Given the description of an element on the screen output the (x, y) to click on. 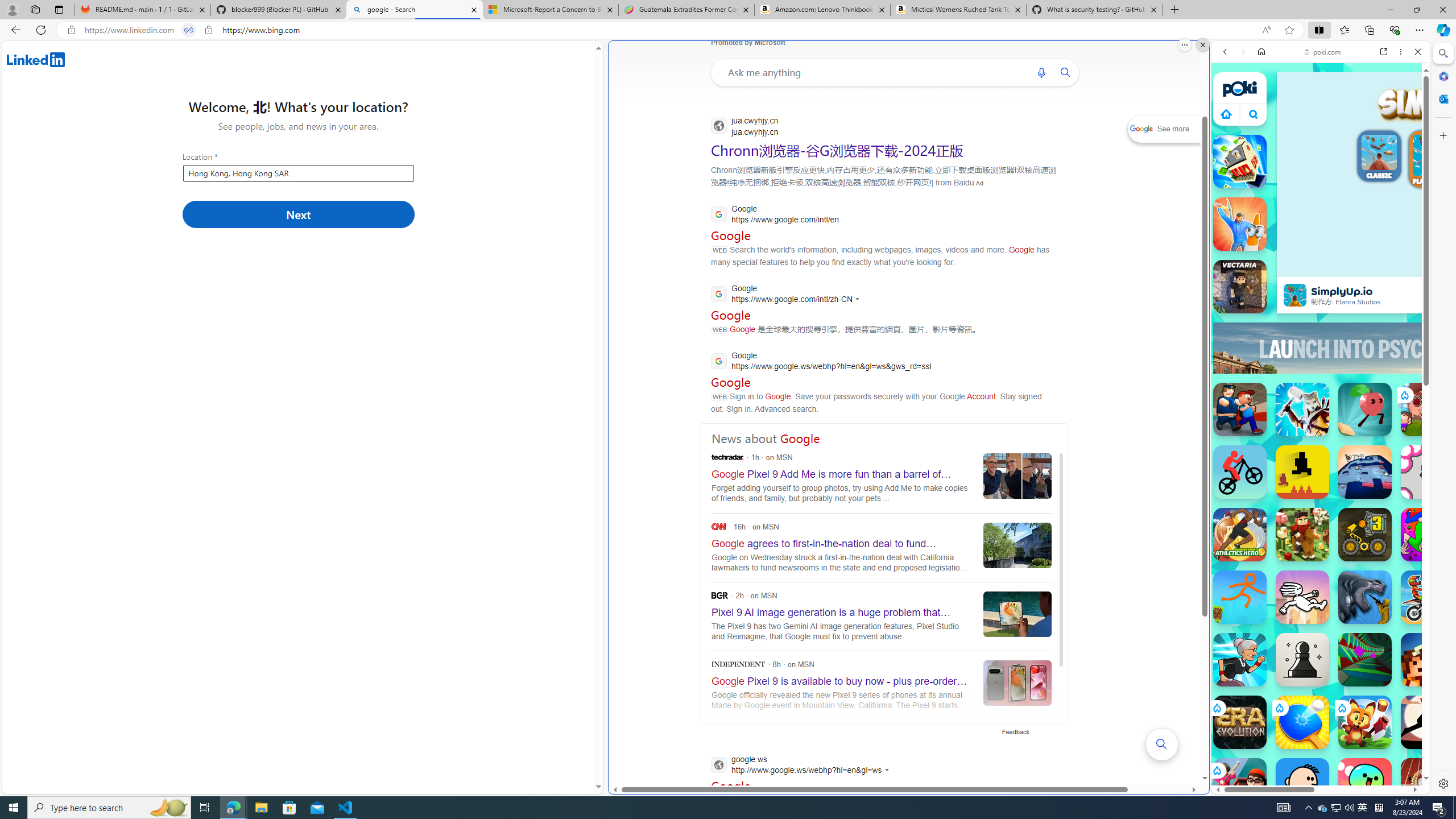
Big Tower Tiny Square (1364, 471)
Level Devil Level Devil (1302, 471)
Stack City (1239, 161)
Dreadhead Parkour Dreadhead Parkour (1302, 597)
Dreadhead Parkour (1302, 597)
School Escape! (1239, 784)
Era: Evolution Era: Evolution (1239, 722)
Big Tower Tiny Square Big Tower Tiny Square (1364, 471)
SUBWAY SURFERS - Play Online for Free! | Poki (1315, 765)
